Given the description of an element on the screen output the (x, y) to click on. 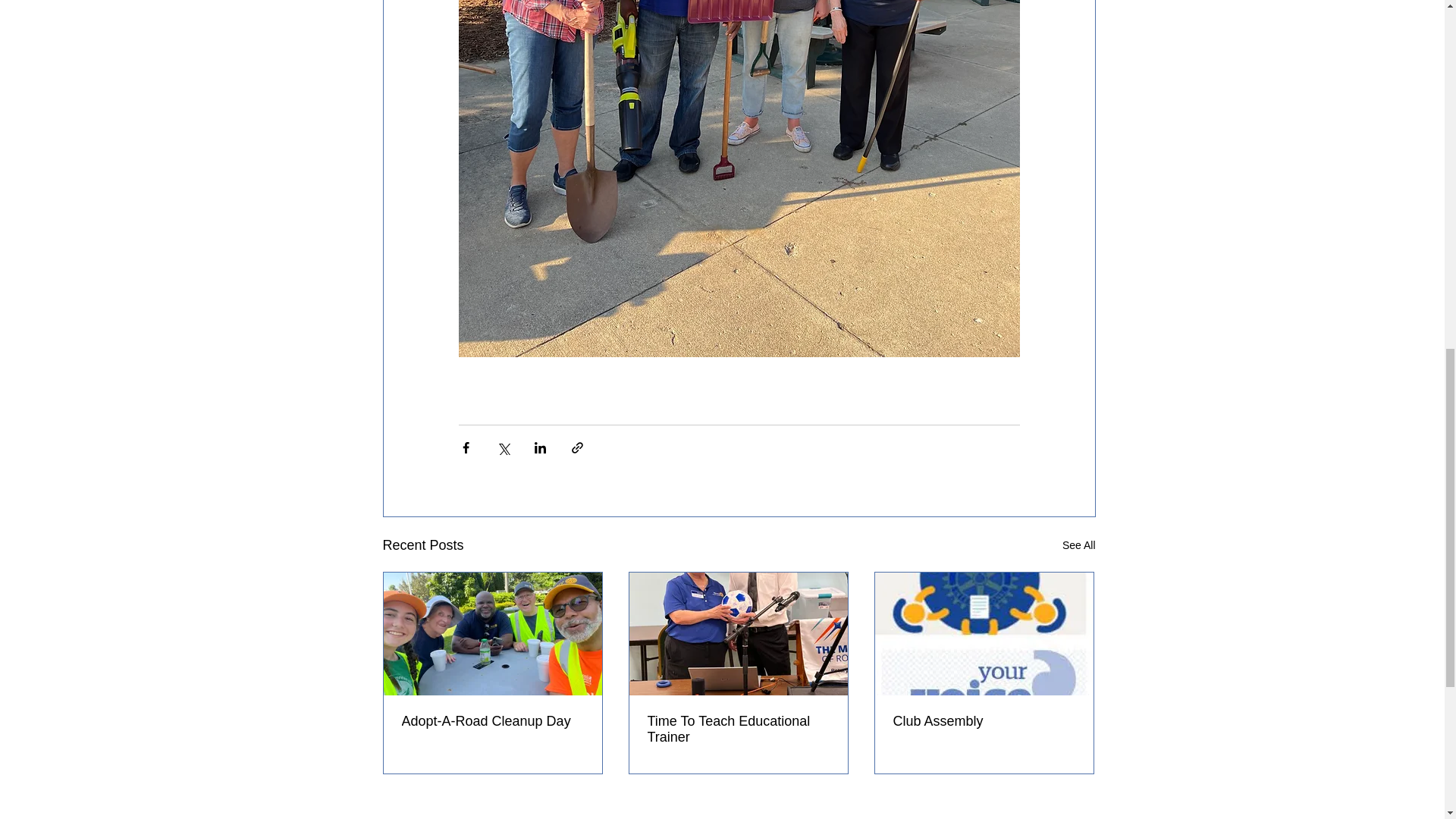
See All (1079, 545)
Club Assembly (984, 721)
Time To Teach Educational Trainer (738, 729)
Adopt-A-Road Cleanup Day (492, 721)
